Given the description of an element on the screen output the (x, y) to click on. 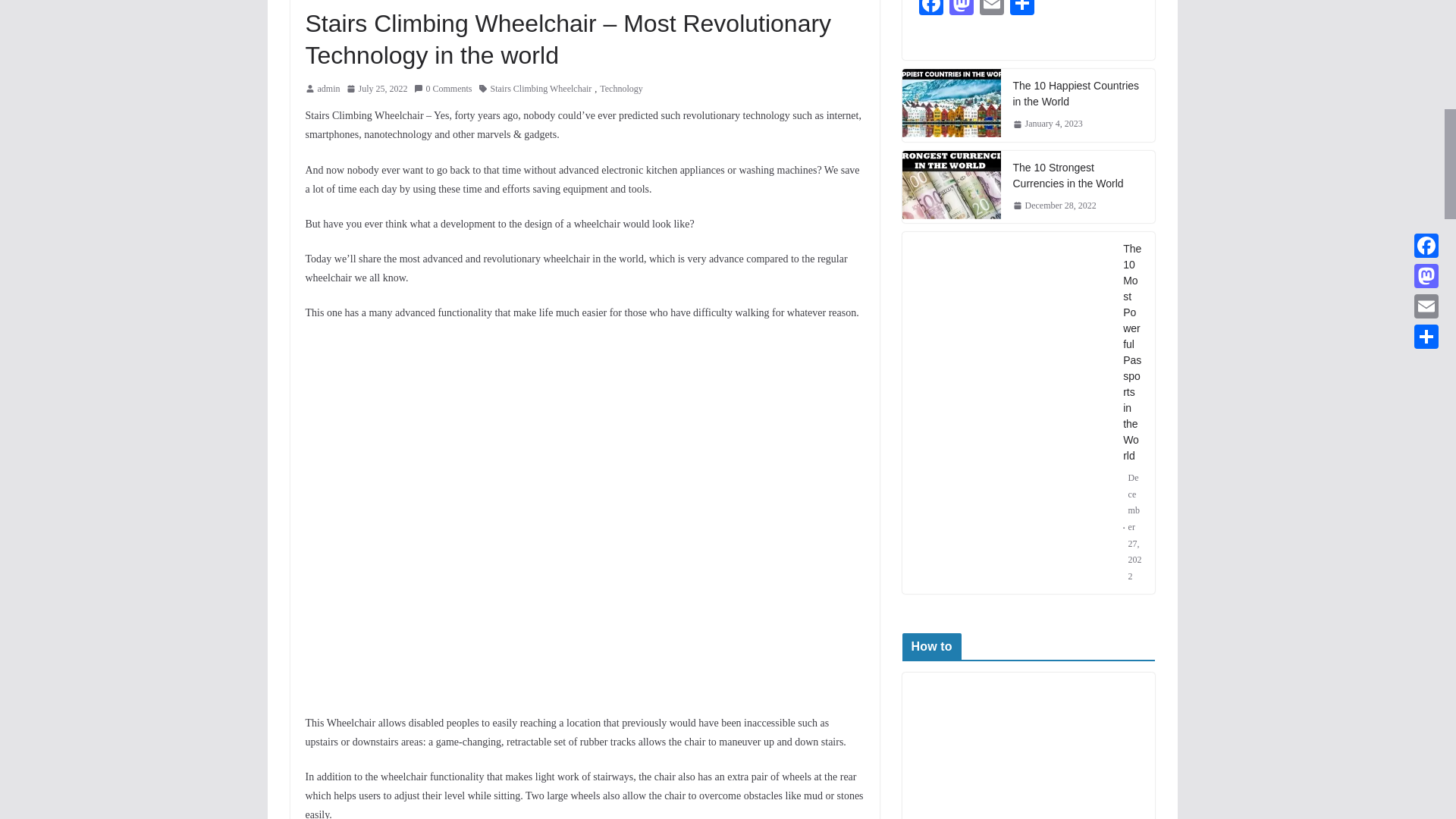
admin (328, 89)
admin (328, 89)
Stairs Climbing Wheelchair (541, 89)
Technology (620, 89)
0 Comments (442, 89)
9:00 am (376, 89)
July 25, 2022 (376, 89)
